Given the description of an element on the screen output the (x, y) to click on. 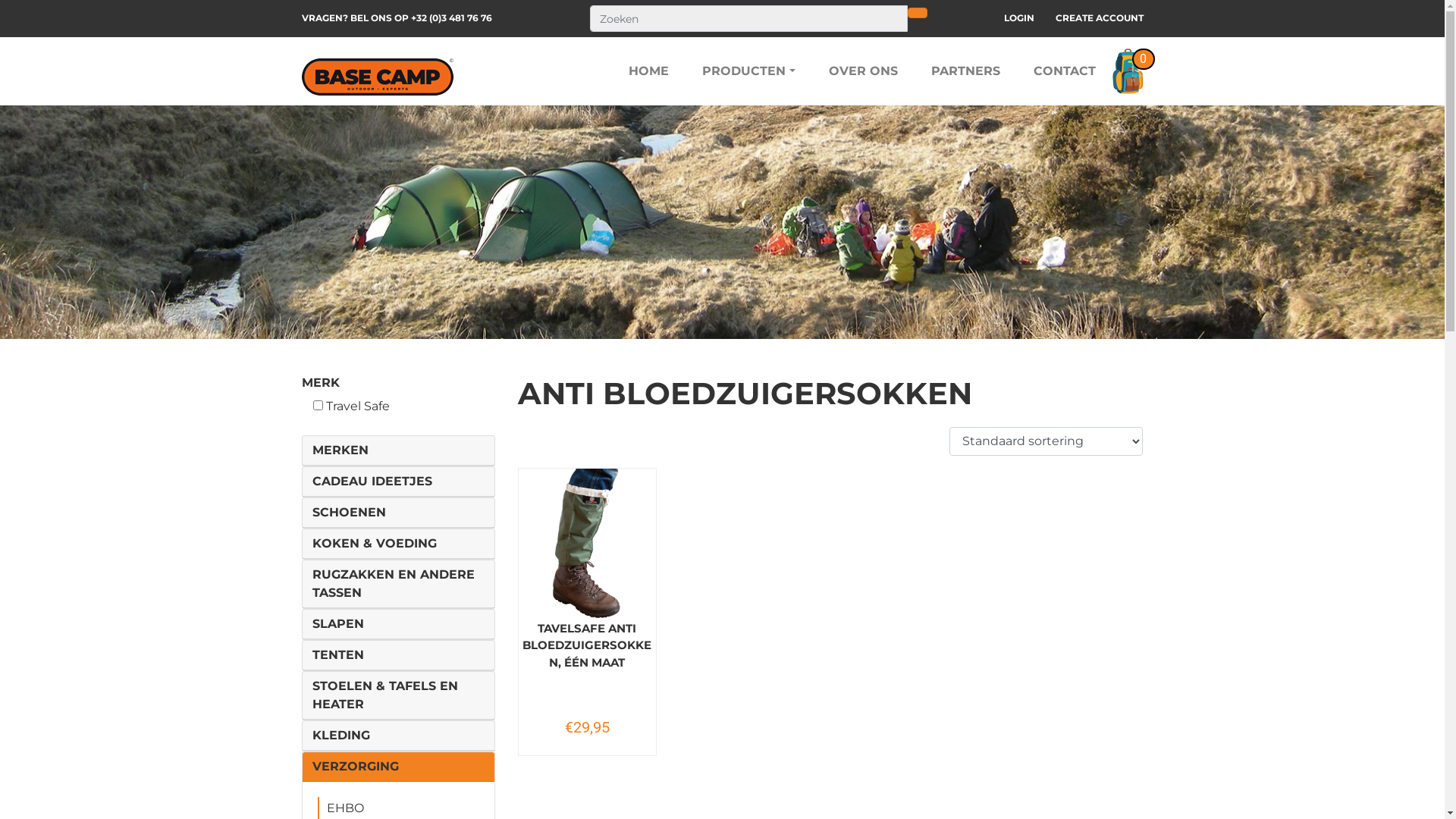
VERZORGING Element type: text (354, 766)
KOKEN & VOEDING Element type: text (373, 543)
HOME Element type: text (648, 70)
MERK Element type: text (320, 382)
Shopping cart Element type: hover (1126, 71)
PARTNERS Element type: text (965, 70)
KLEDING Element type: text (340, 735)
STOELEN & TAFELS EN HEATER Element type: text (397, 694)
SCHOENEN Element type: text (348, 512)
PRODUCTEN Element type: text (748, 70)
EHBO Element type: text (344, 807)
0 Element type: text (1126, 71)
RUGZAKKEN EN ANDERE TASSEN Element type: text (397, 583)
Base Camp Element type: hover (377, 76)
SLAPEN Element type: text (337, 623)
TENTEN Element type: text (337, 654)
CONTACT Element type: text (1063, 70)
LOGIN Element type: text (1019, 17)
CADEAU IDEETJES Element type: text (371, 481)
VRAGEN? BEL ONS OP +32 (0)3 481 76 76 Element type: text (396, 17)
MERKEN Element type: text (339, 450)
CREATE ACCOUNT Element type: text (1099, 17)
OVER ONS Element type: text (862, 70)
